Given the description of an element on the screen output the (x, y) to click on. 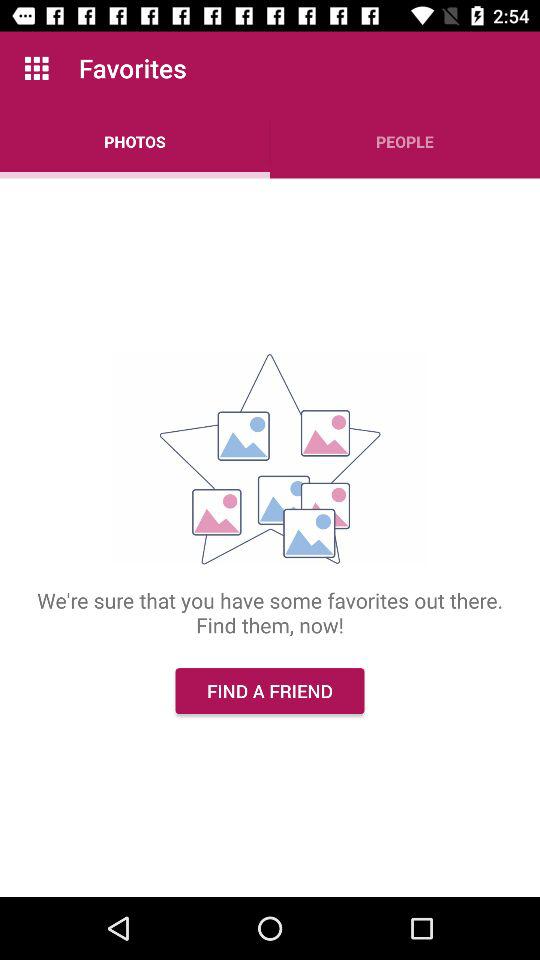
tap the item to the right of photos item (405, 141)
